Given the description of an element on the screen output the (x, y) to click on. 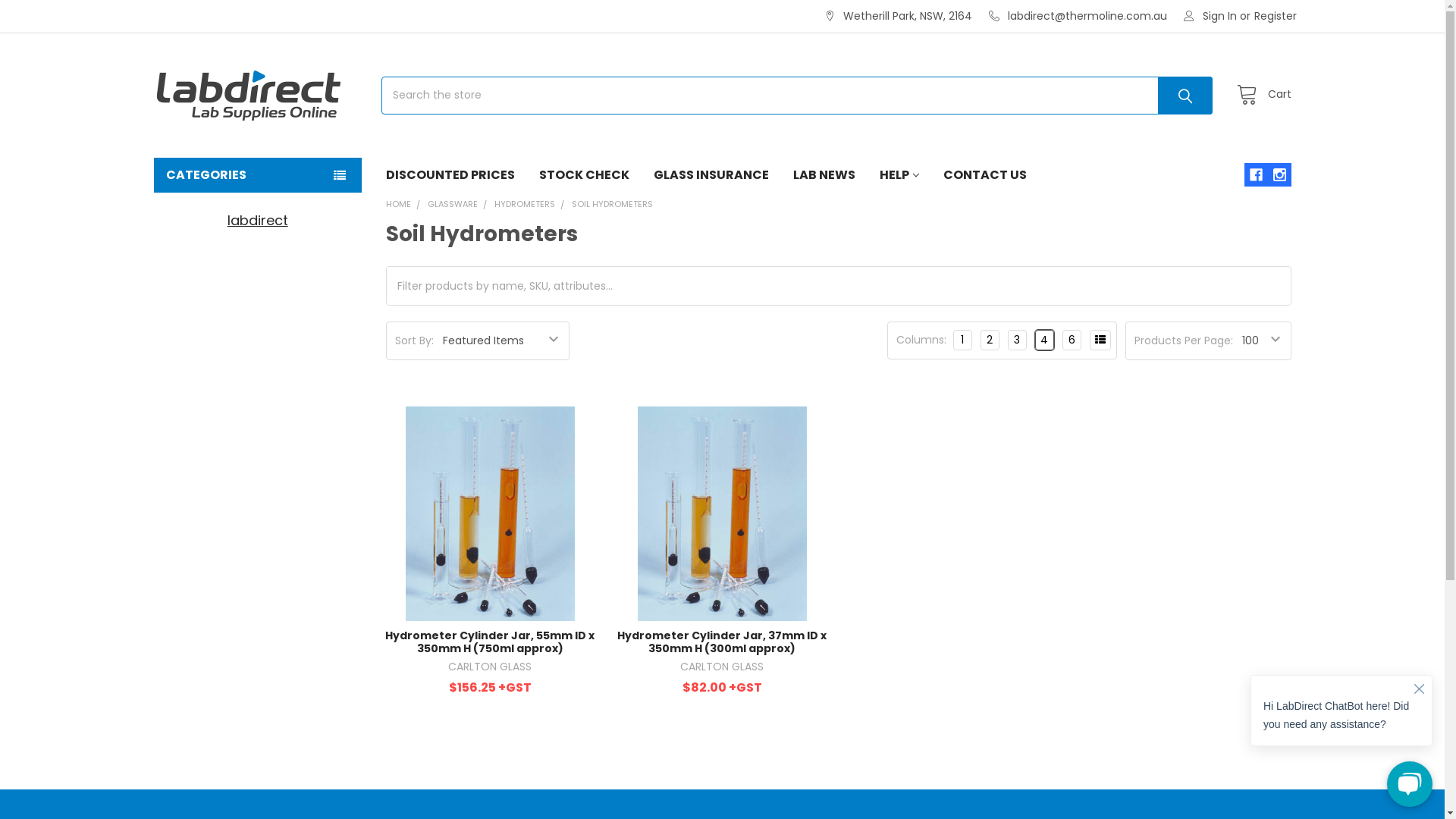
labdirect Element type: text (257, 219)
CONTACT US Element type: text (984, 174)
Instagram Element type: text (1279, 174)
Sign In Element type: text (1210, 16)
Hydrometer Cylinder Jar, 37mm ID x 350mm H (300ml approx) Element type: hover (721, 513)
HOME Element type: text (398, 203)
LabDirect - Lab Supplies Online Element type: hover (247, 95)
LAB NEWS Element type: text (824, 174)
labdirect@thermoline.com.au Element type: text (1077, 16)
CATEGORIES Element type: text (256, 174)
HYDROMETERS Element type: text (524, 203)
GLASS INSURANCE Element type: text (711, 174)
Hydrometer Cylinder Jar, 55mm ID x 350mm H (750ml approx) Element type: hover (489, 513)
Hydrometer Cylinder Jar, 37mm ID x 350mm H (300ml approx) Element type: text (721, 641)
HELP Element type: text (899, 174)
Search Element type: text (1180, 95)
Facebook Element type: text (1255, 174)
Register Element type: text (1275, 16)
DISCOUNTED PRICES Element type: text (450, 174)
Hydrometer Cylinder Jar, 55mm ID x 350mm H (750ml approx) Element type: text (489, 641)
Cart Element type: text (1259, 94)
SOIL HYDROMETERS Element type: text (611, 203)
STOCK CHECK Element type: text (584, 174)
Bulk Order Element type: hover (1100, 339)
GLASSWARE Element type: text (452, 203)
